Given the description of an element on the screen output the (x, y) to click on. 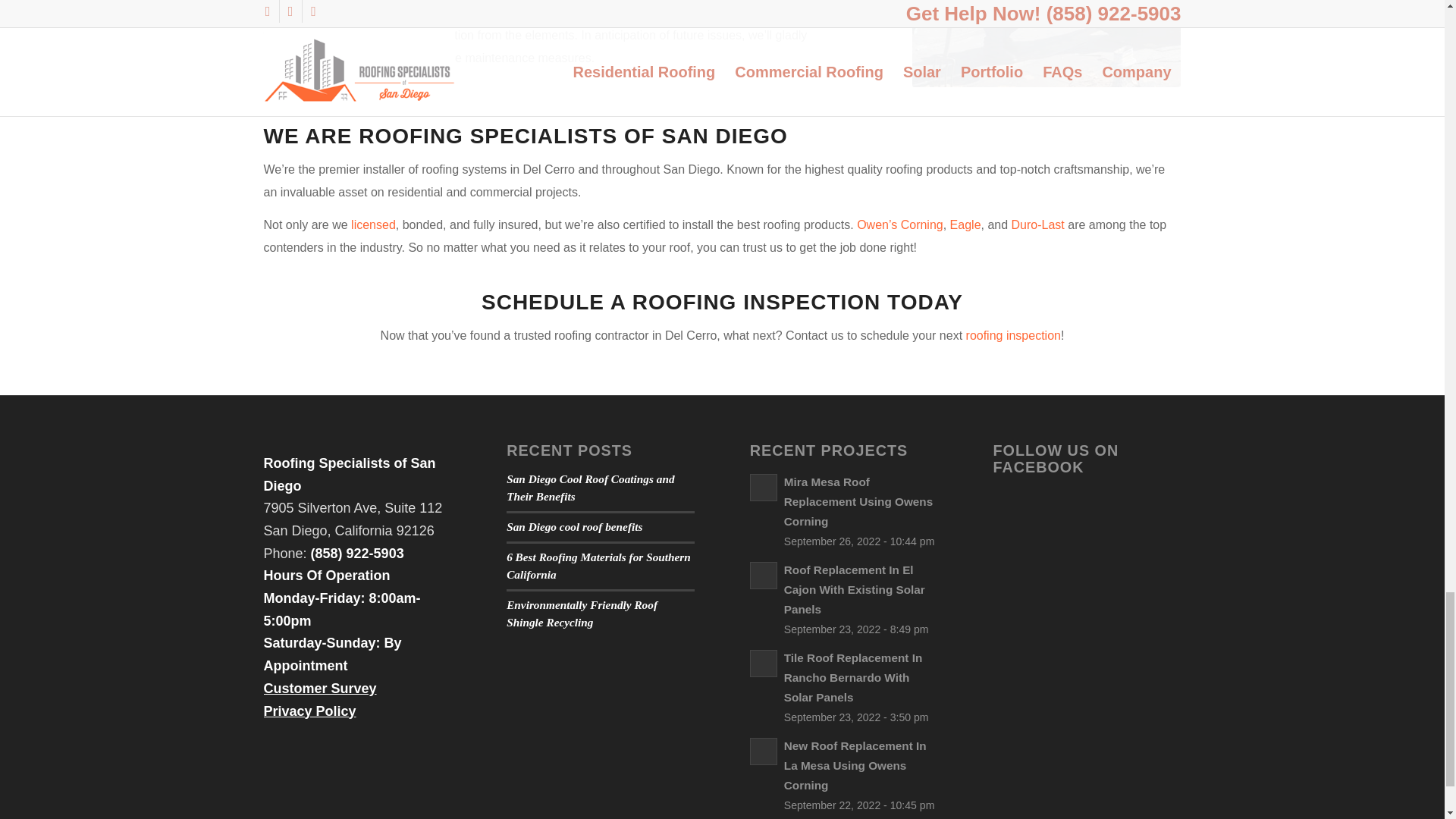
Duro-Last (1037, 224)
Eagle (965, 224)
Roofing Specialists of San Diego Customer Survey (320, 688)
licensed (373, 224)
Customer Survey (320, 688)
roofing inspection (1013, 335)
